Given the description of an element on the screen output the (x, y) to click on. 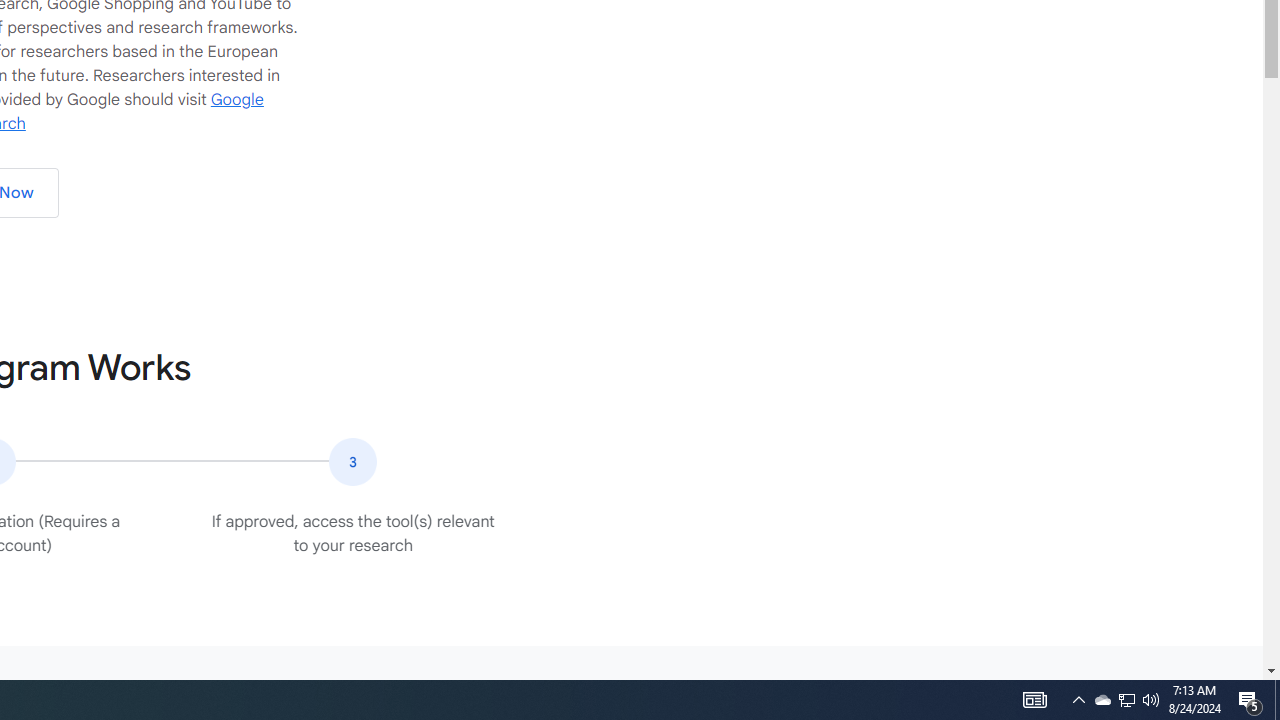
The number three in a circular icon. (352, 461)
